Given the description of an element on the screen output the (x, y) to click on. 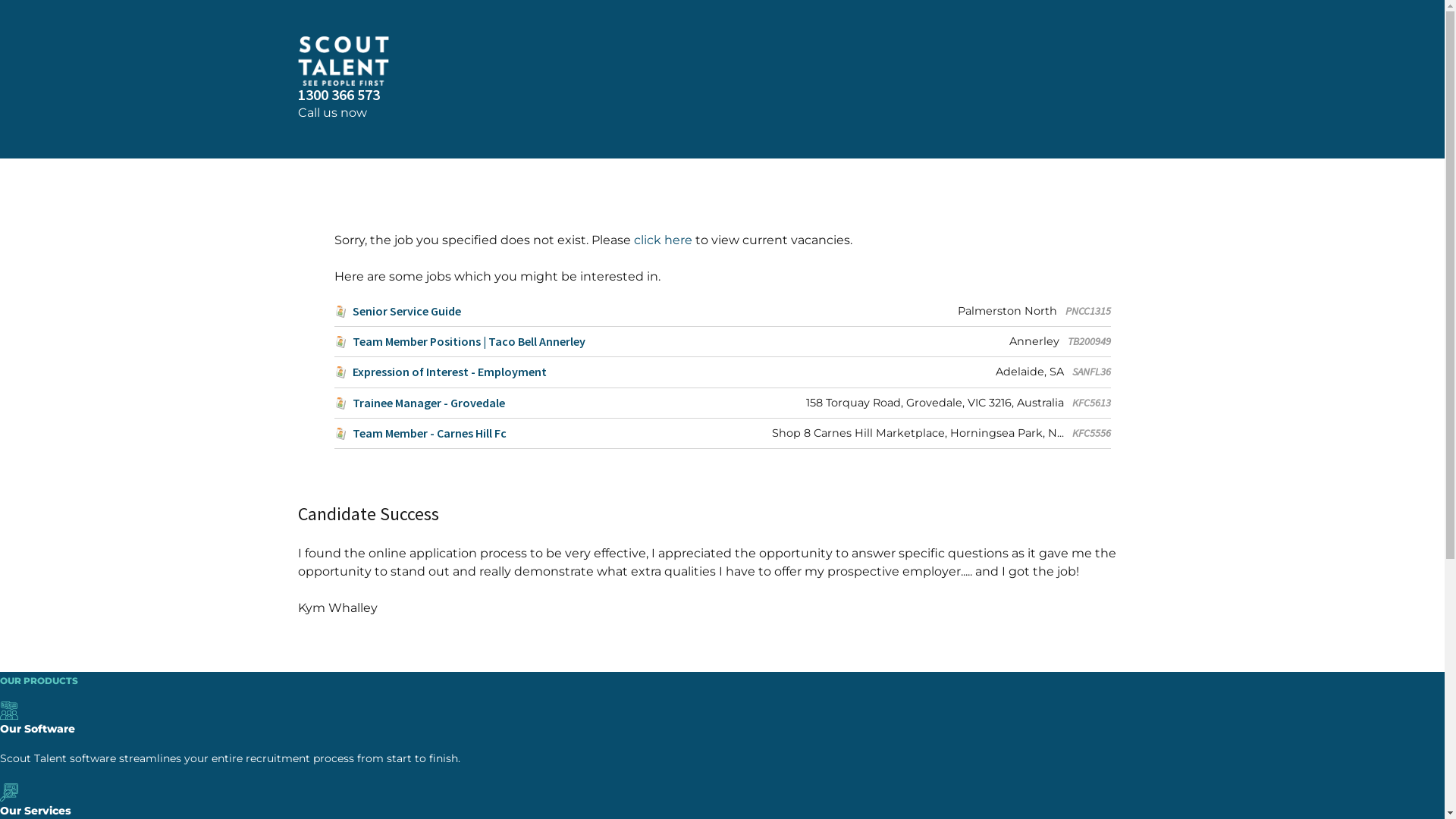
Senior Service Guide Element type: text (396, 311)
Team Member - Carnes Hill Fc Element type: text (419, 433)
Scout Talent Element type: hover (721, 60)
Trainee Manager - Grovedale Element type: text (418, 402)
Expression of Interest - Employment Element type: text (439, 371)
Team Member Positions | Taco Bell Annerley Element type: text (458, 341)
click here Element type: text (662, 239)
